Given the description of an element on the screen output the (x, y) to click on. 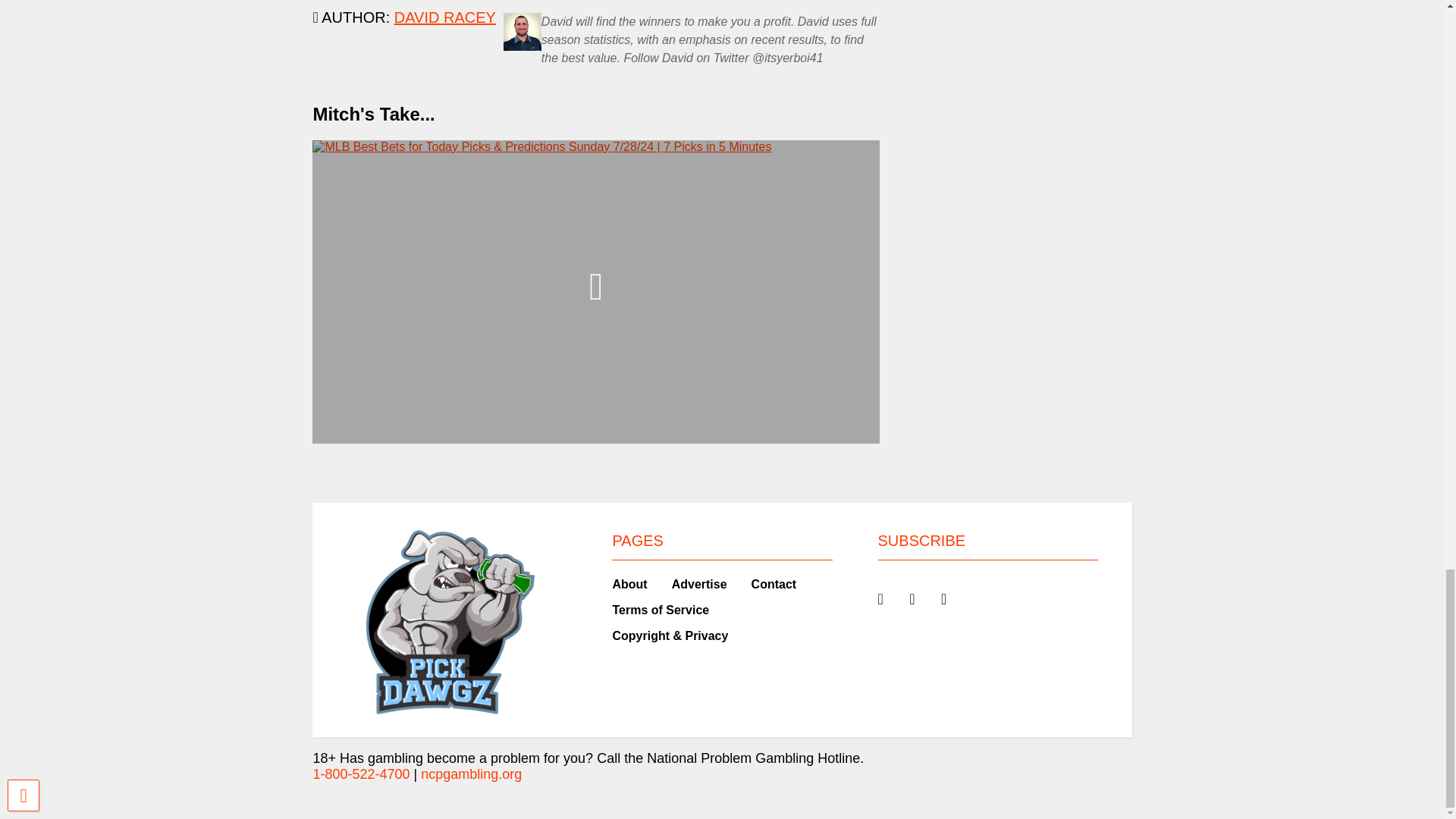
youtube (880, 598)
twitter (943, 598)
facebook (911, 598)
author profile (445, 17)
